Given the description of an element on the screen output the (x, y) to click on. 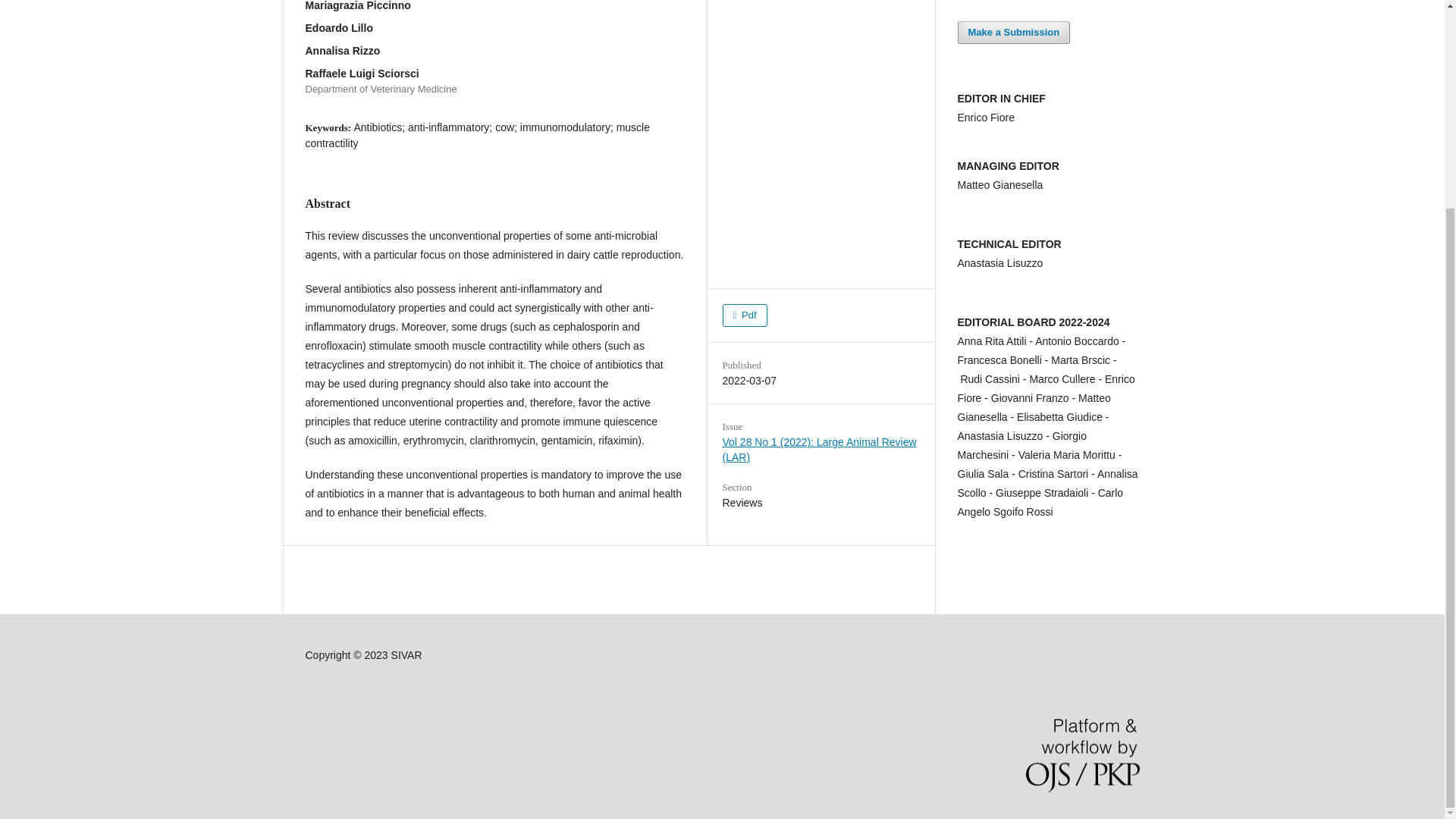
Make a Submission (1013, 32)
Pdf (744, 314)
